Given the description of an element on the screen output the (x, y) to click on. 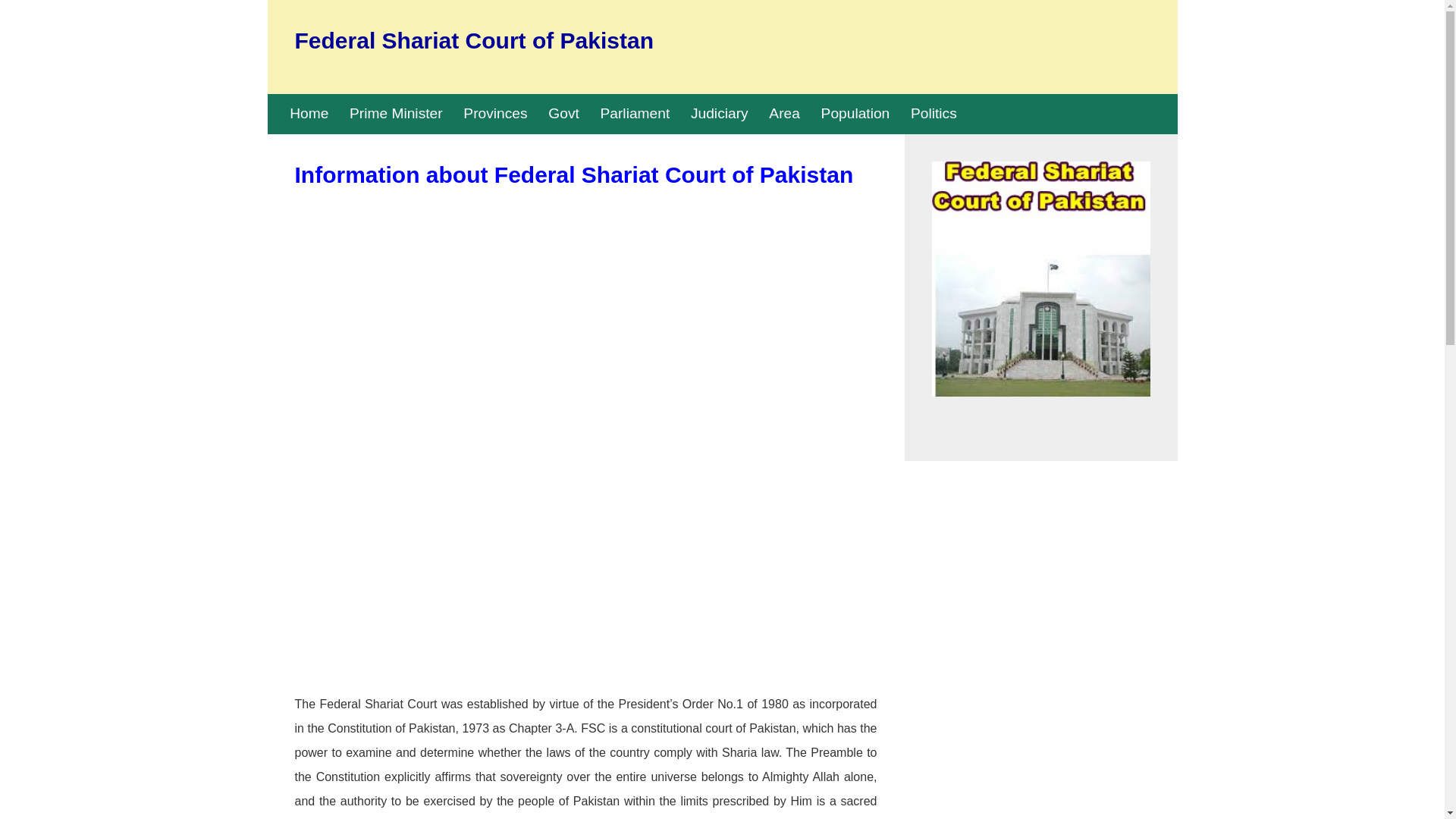
Parliament (634, 113)
Provinces (495, 113)
Advertisement (585, 548)
Govt (563, 113)
Home (309, 113)
Politics (933, 113)
Area (783, 113)
Prime Minister (395, 113)
Judiciary (719, 113)
Population (855, 113)
